Given the description of an element on the screen output the (x, y) to click on. 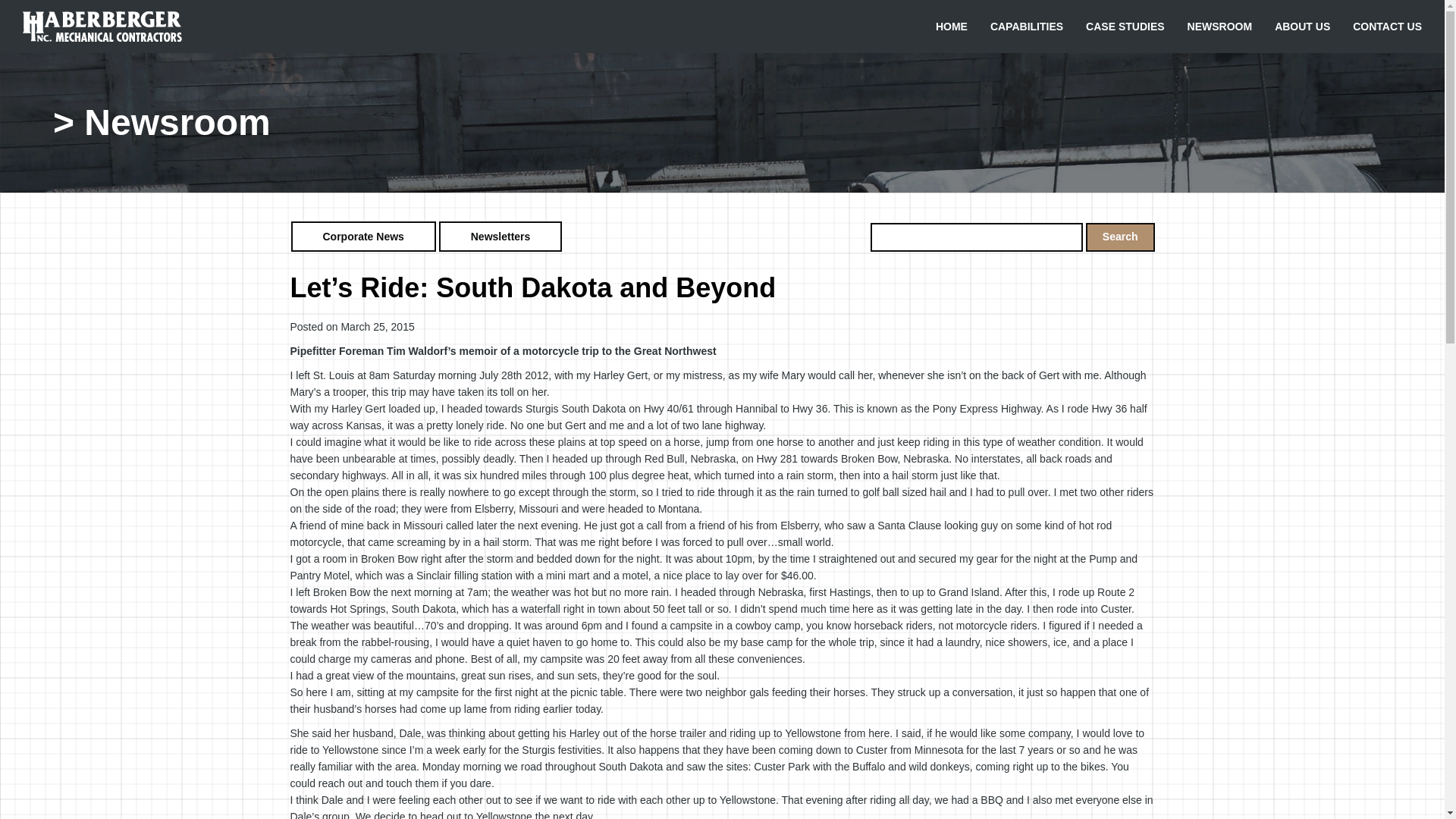
Newsletters (500, 235)
CASE STUDIES (1124, 26)
Search (1120, 236)
CAPABILITIES (1026, 26)
CONTACT US (1386, 26)
NEWSROOM (1219, 26)
HOME (951, 26)
ABOUT US (1301, 26)
Search (1120, 236)
Corporate News (362, 235)
